Given the description of an element on the screen output the (x, y) to click on. 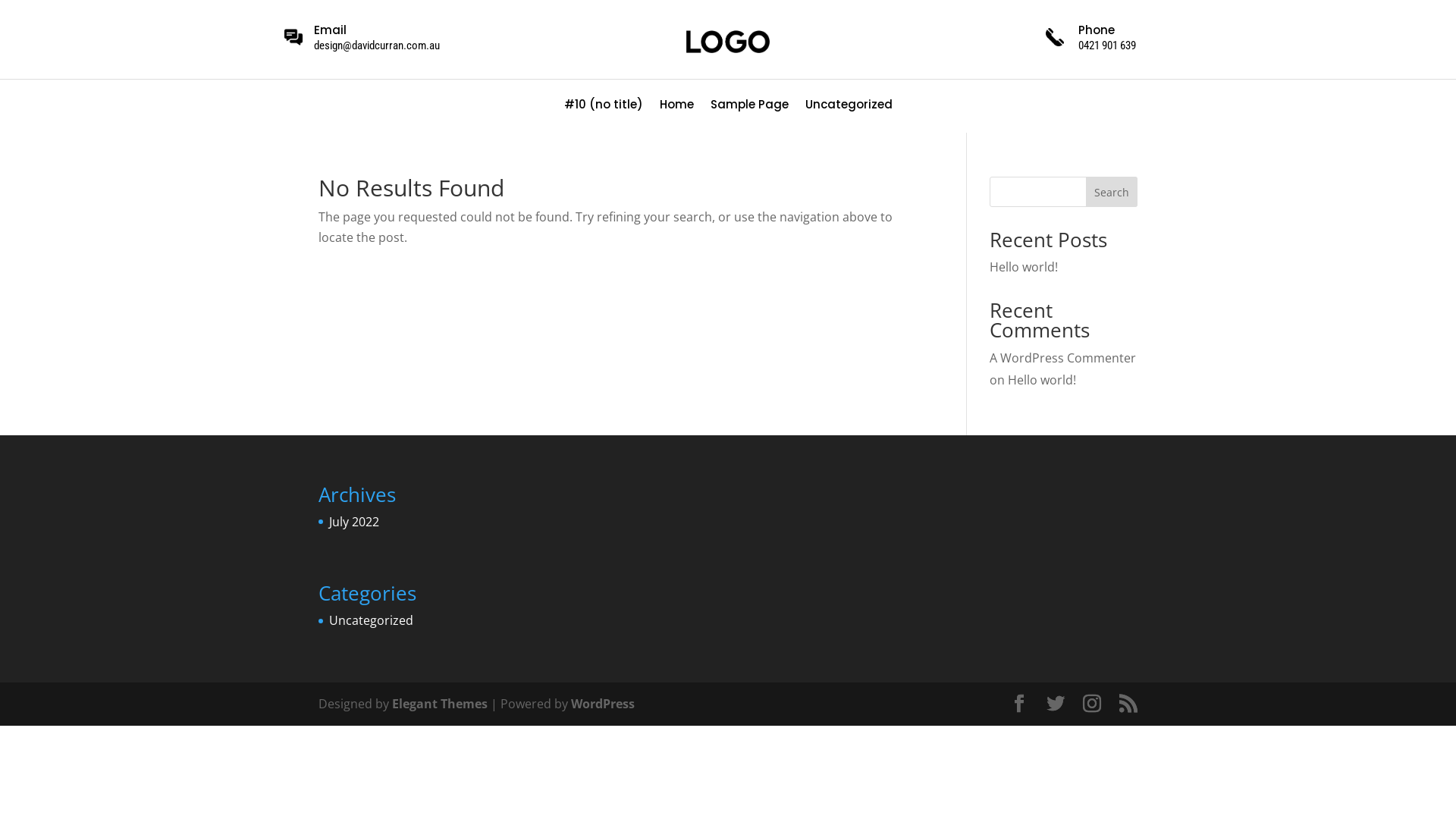
Hello world! Element type: text (1041, 379)
Uncategorized Element type: text (848, 107)
July 2022 Element type: text (354, 521)
WordPress Element type: text (602, 703)
Uncategorized Element type: text (371, 619)
A WordPress Commenter Element type: text (1062, 357)
Search Element type: text (1111, 191)
Elegant Themes Element type: text (439, 703)
Home Element type: text (676, 107)
Sample Page Element type: text (748, 107)
Hello world! Element type: text (1023, 266)
#10 (no title) Element type: text (603, 107)
